Given the description of an element on the screen output the (x, y) to click on. 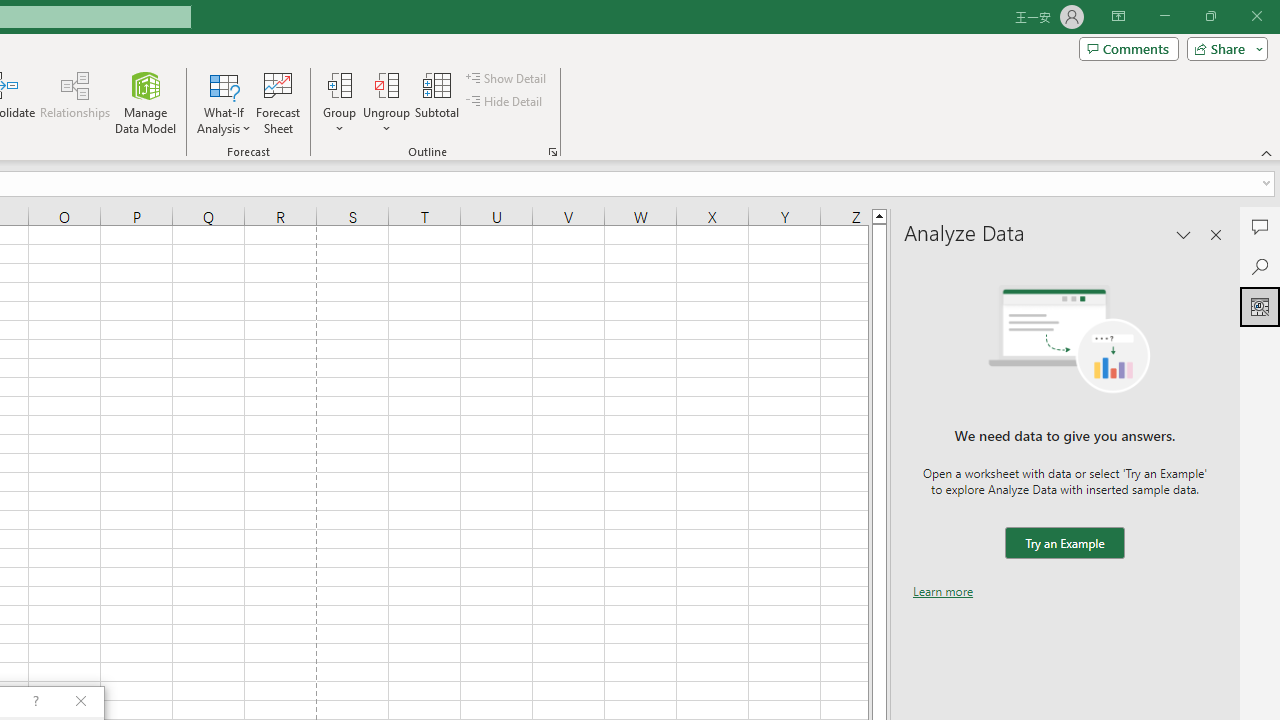
What-If Analysis (223, 102)
Hide Detail (505, 101)
Analyze Data (1260, 306)
Relationships (75, 102)
Subtotal (437, 102)
Show Detail (507, 78)
Close pane (1215, 234)
Manage Data Model (145, 102)
Restore Down (1210, 16)
Ungroup... (386, 102)
Forecast Sheet (278, 102)
Learn more (943, 591)
